Given the description of an element on the screen output the (x, y) to click on. 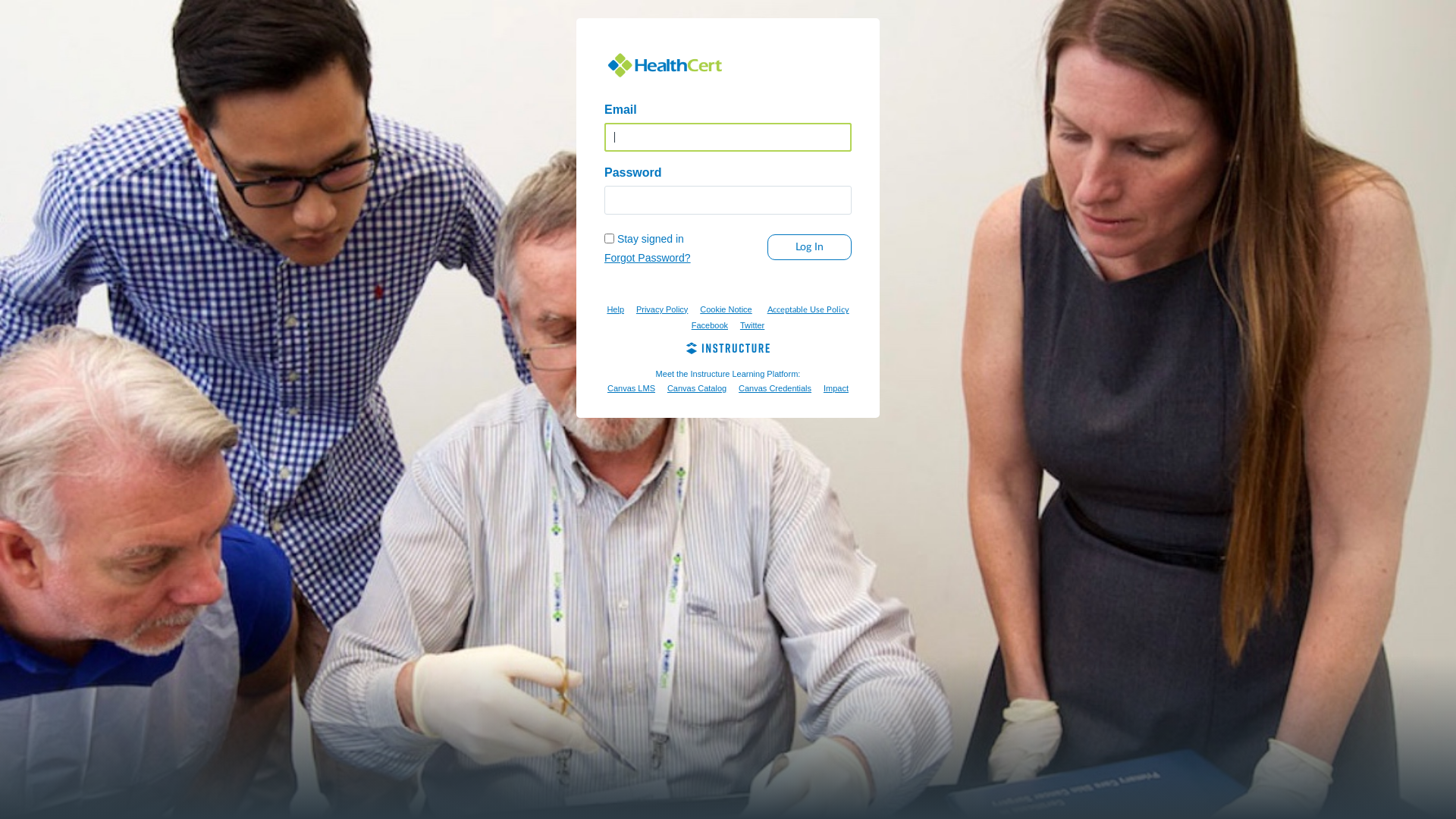
Canvas Catalog Element type: text (696, 387)
Canvas Credentials Element type: text (774, 387)
Privacy Policy Element type: text (661, 308)
Log In Element type: text (809, 247)
Help Element type: text (615, 308)
Acceptable Use Policy Element type: text (807, 309)
Canvas LMS Element type: text (630, 387)
Forgot Password? Element type: text (647, 257)
Instructure Element type: text (727, 350)
Impact Element type: text (836, 387)
Facebook Element type: text (709, 324)
Twitter Element type: text (751, 324)
Cookie Notice Element type: text (725, 308)
